Given the description of an element on the screen output the (x, y) to click on. 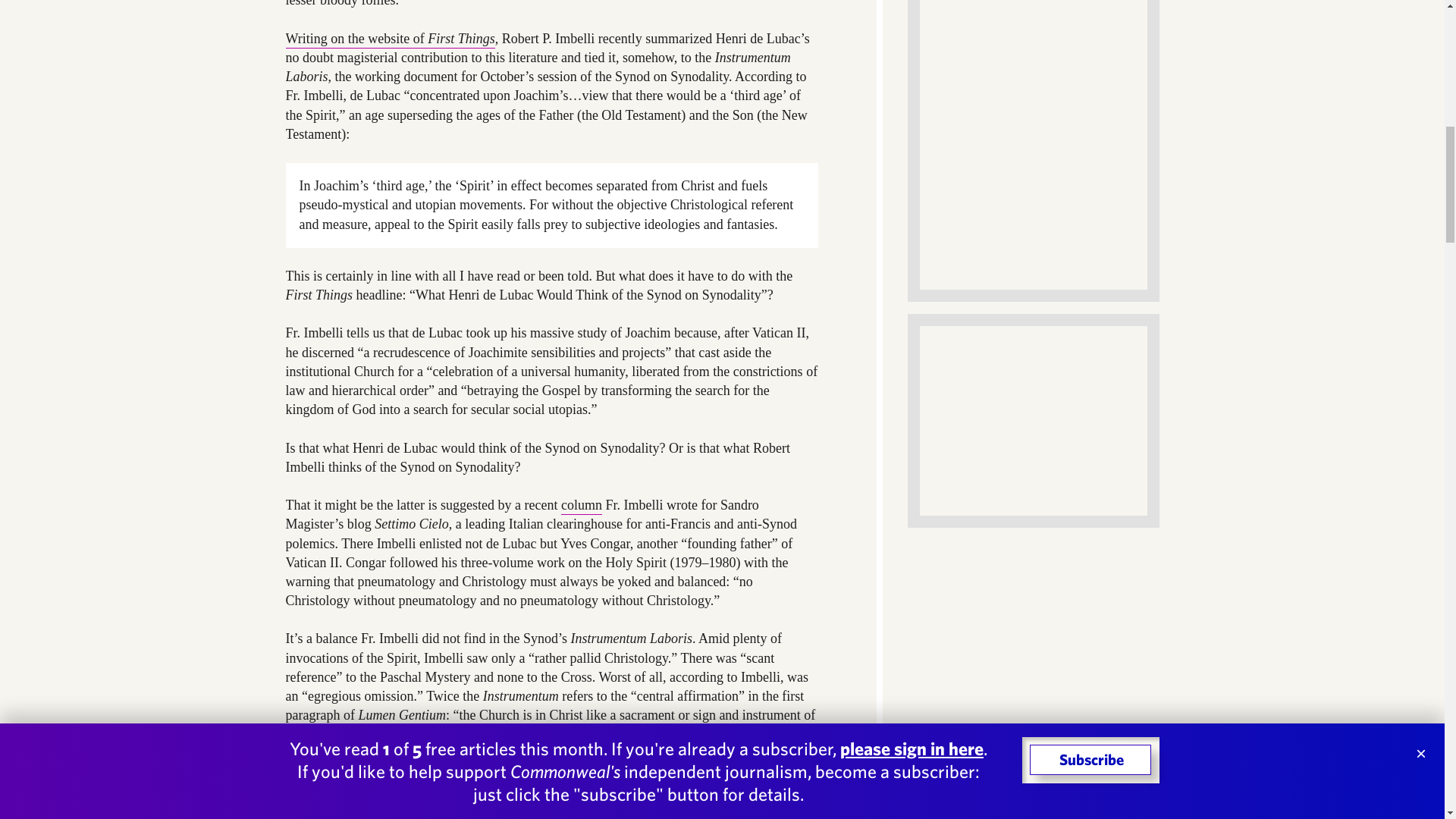
Writing on the website of First Things (390, 39)
3rd party ad content (1032, 420)
column (581, 506)
